Given the description of an element on the screen output the (x, y) to click on. 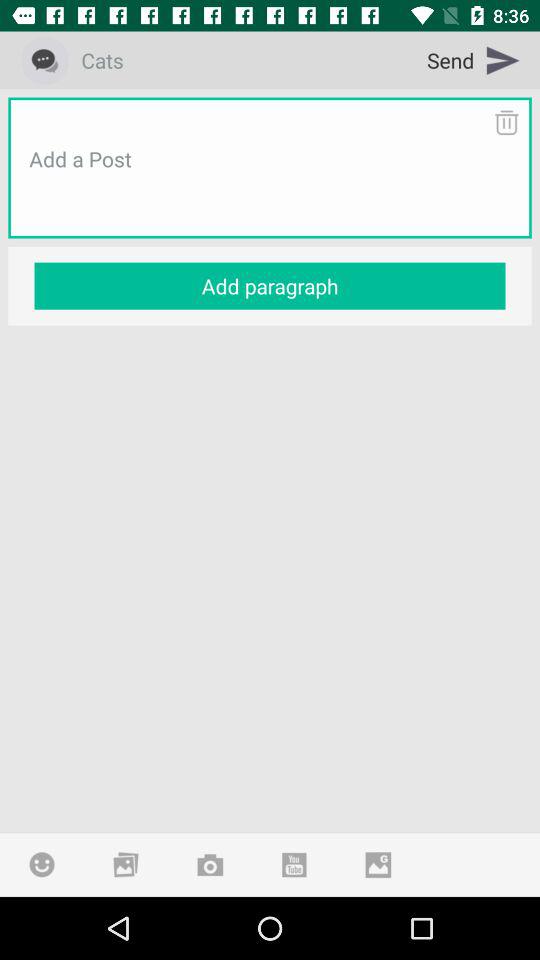
choose the item below send item (506, 122)
